Given the description of an element on the screen output the (x, y) to click on. 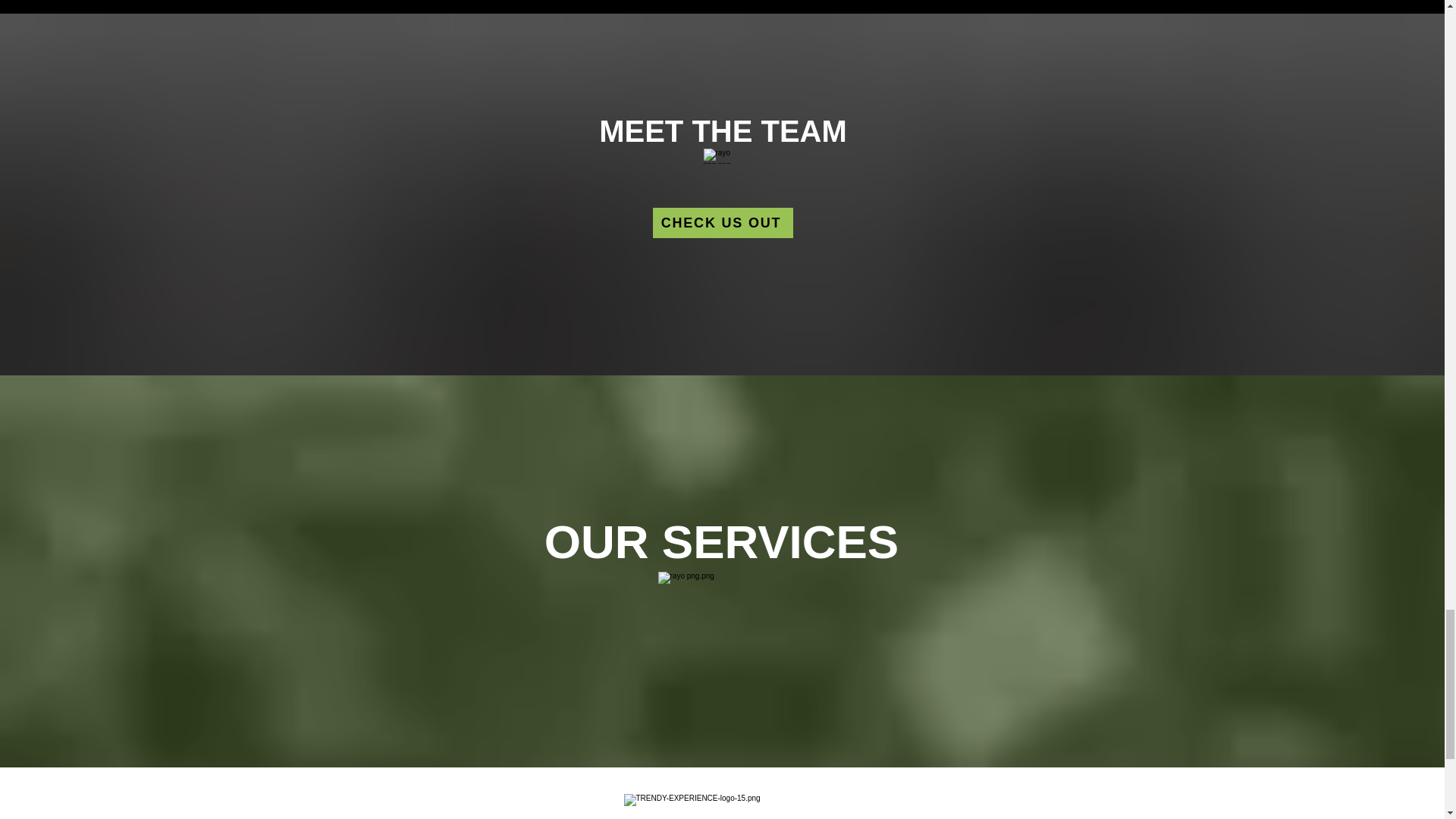
OUR SERVICES (721, 541)
CHECK US OUT (722, 223)
